Given the description of an element on the screen output the (x, y) to click on. 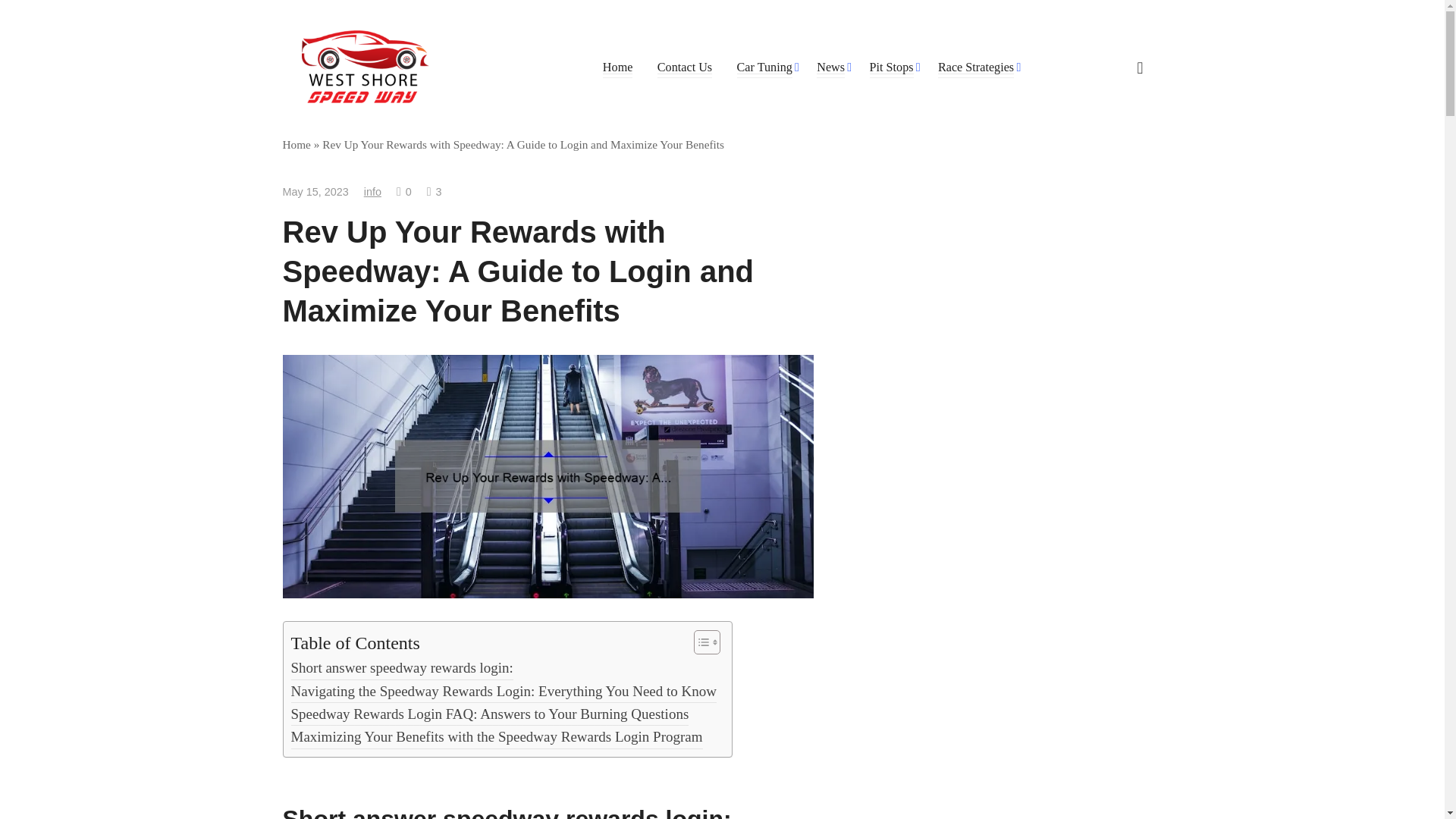
Race Strategies (975, 67)
Car Tuning (764, 67)
Pit Stops (890, 67)
Home (617, 67)
News (830, 67)
Short answer speedway rewards login: (402, 667)
Contact Us (684, 67)
